Given the description of an element on the screen output the (x, y) to click on. 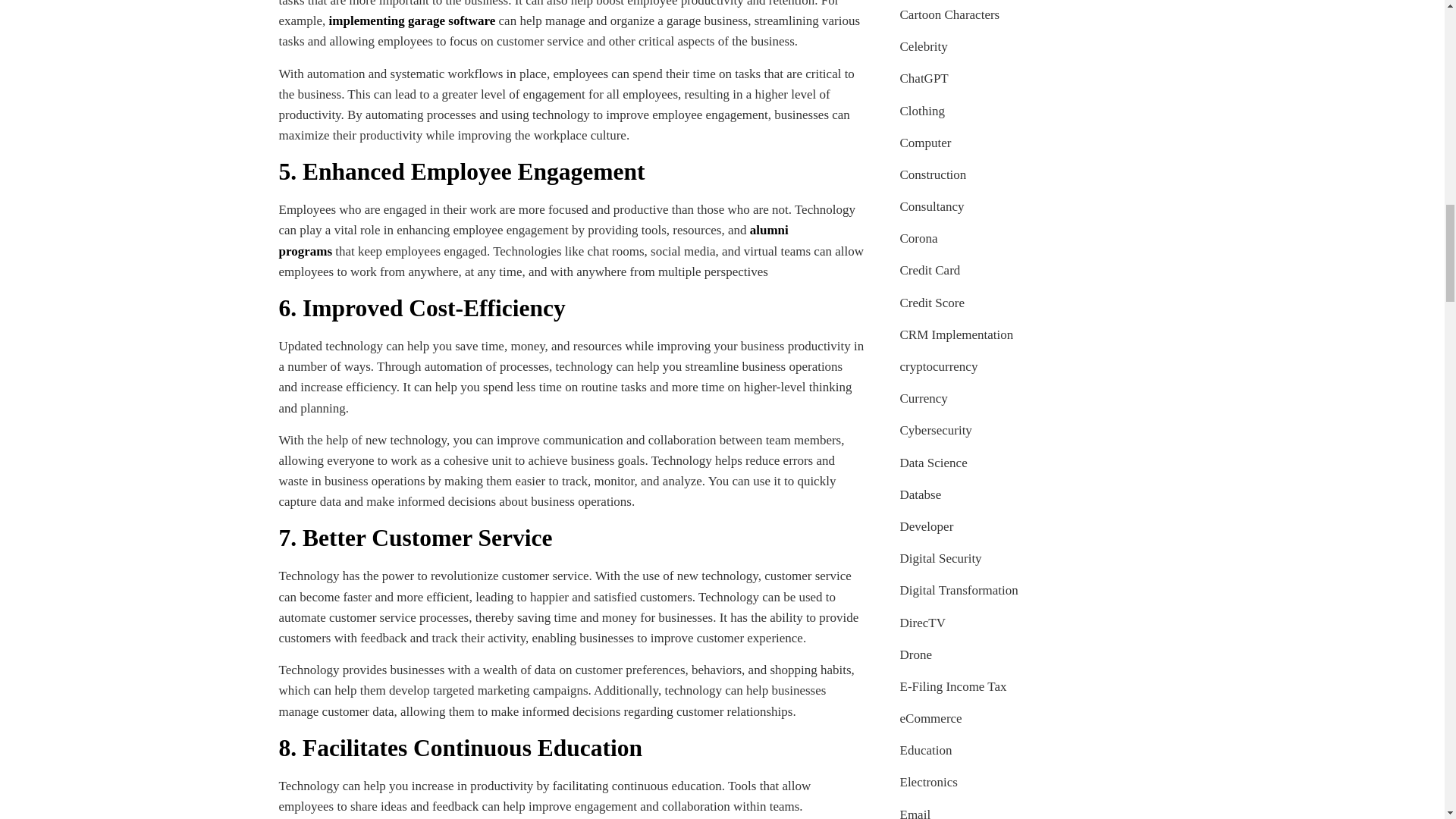
implementing garage software (412, 20)
alumni programs (534, 239)
